Given the description of an element on the screen output the (x, y) to click on. 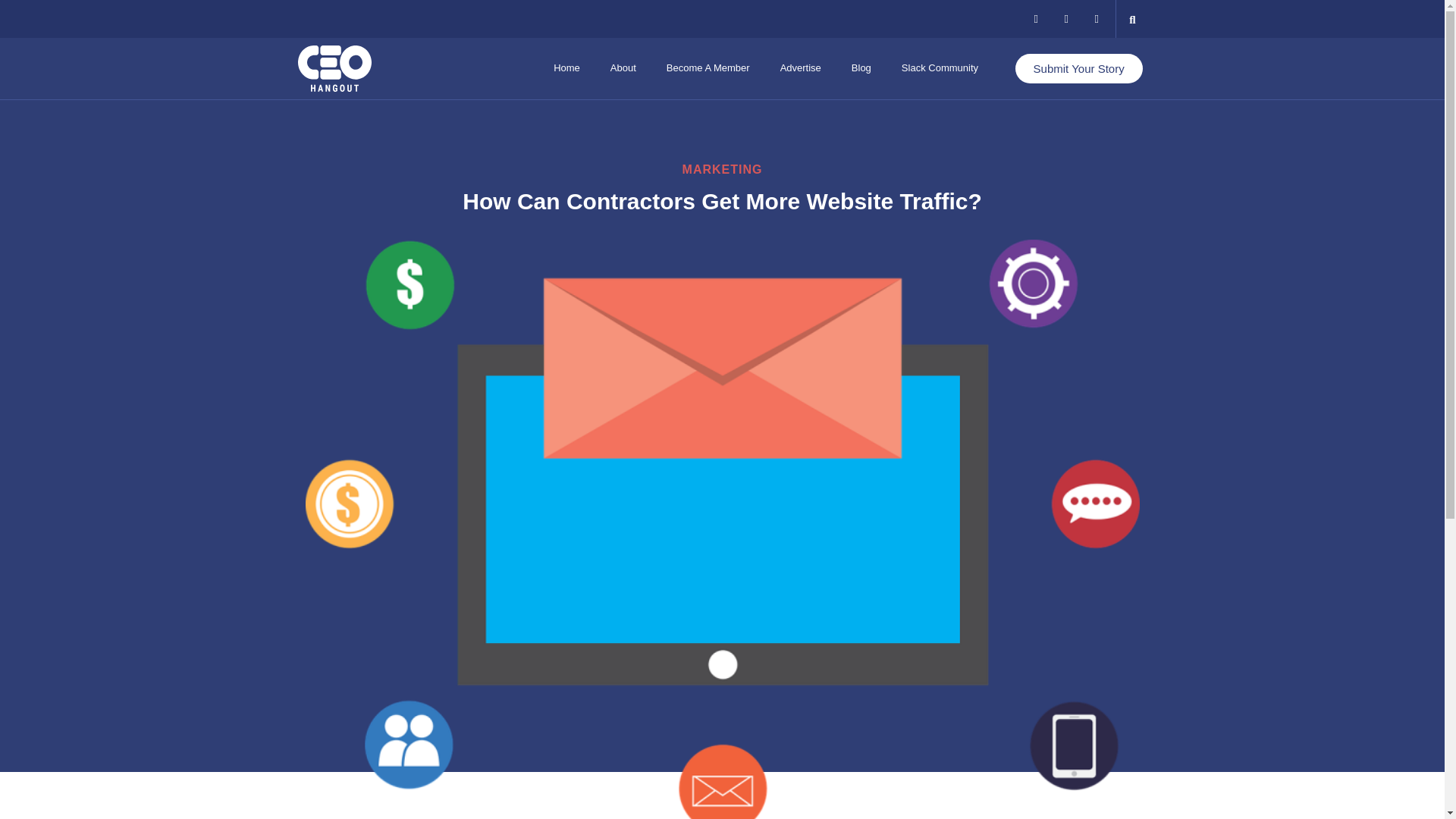
Home (566, 67)
Submit Your Story (1078, 68)
Slack Community (939, 67)
Become A Member (707, 67)
Advertise (800, 67)
Blog (860, 67)
MARKETING (722, 169)
About (622, 67)
